Given the description of an element on the screen output the (x, y) to click on. 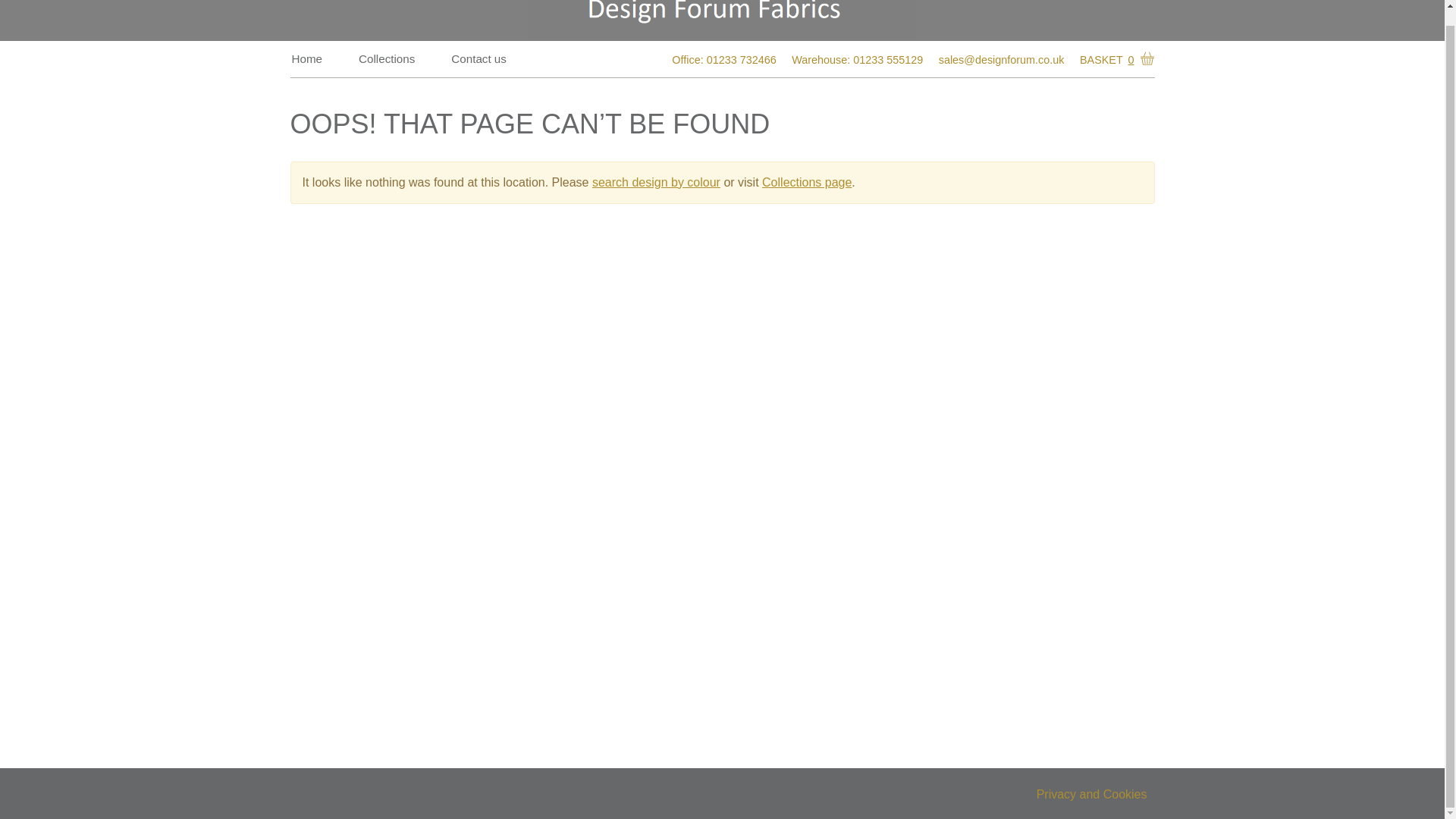
Privacy and Cookies (1091, 794)
Home (307, 58)
BASKET 0 (1114, 59)
search design by colour (656, 182)
Office: 01233 732466 (723, 59)
Warehouse: 01233 555129 (857, 59)
Collections page (806, 182)
Design Forum (721, 20)
Contact us (478, 58)
Collections (386, 58)
